Given the description of an element on the screen output the (x, y) to click on. 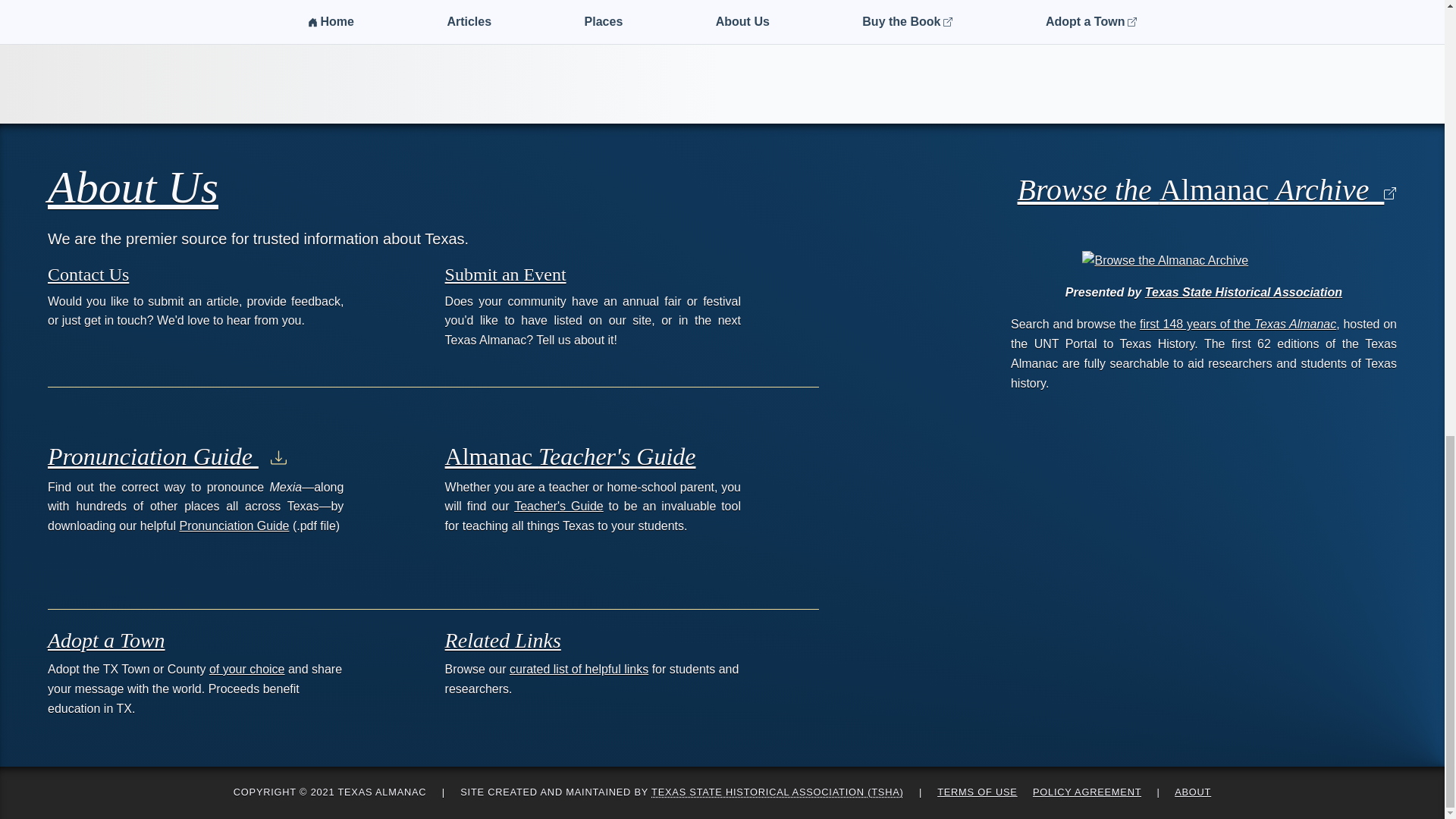
Contact Us (88, 274)
Adopt a Town (106, 639)
Site Search (1352, 4)
Pronunciation Guide (233, 525)
Teacher's Guide (558, 505)
About Us (133, 187)
Pronunciation Guide (167, 456)
Submit an Event (505, 274)
Almanac Teacher's Guide (570, 456)
